Given the description of an element on the screen output the (x, y) to click on. 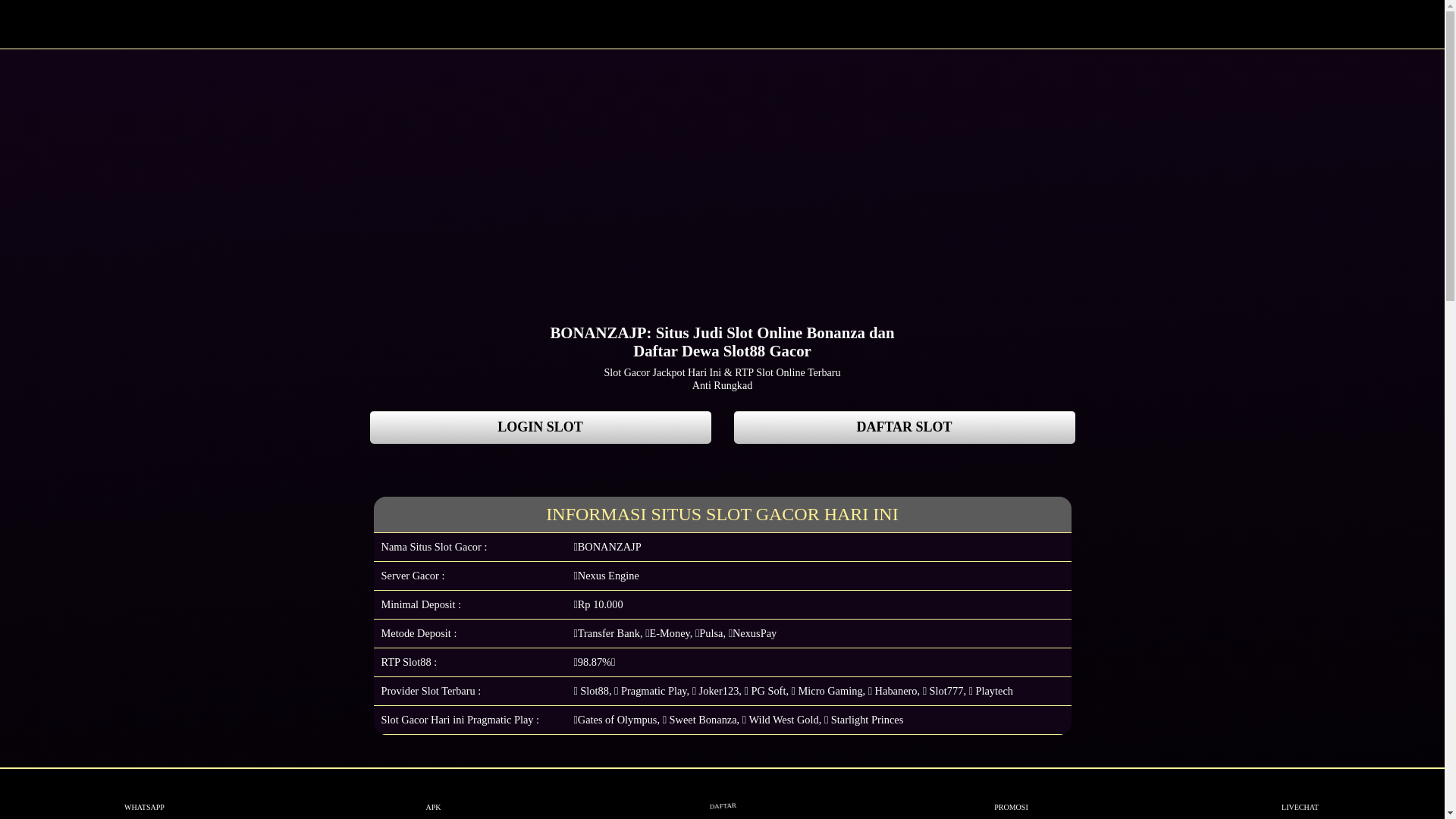
LIVECHAT Element type: text (1299, 793)
DAFTAR SLOT Element type: text (904, 427)
PROMOSI Element type: text (1010, 793)
WHATSAPP Element type: text (144, 793)
APK Element type: text (432, 793)
DAFTAR SLOT Element type: text (904, 426)
LOGIN SLOT Element type: text (540, 427)
LOGIN SLOT Element type: text (540, 426)
DAFTAR Element type: text (721, 793)
